Given the description of an element on the screen output the (x, y) to click on. 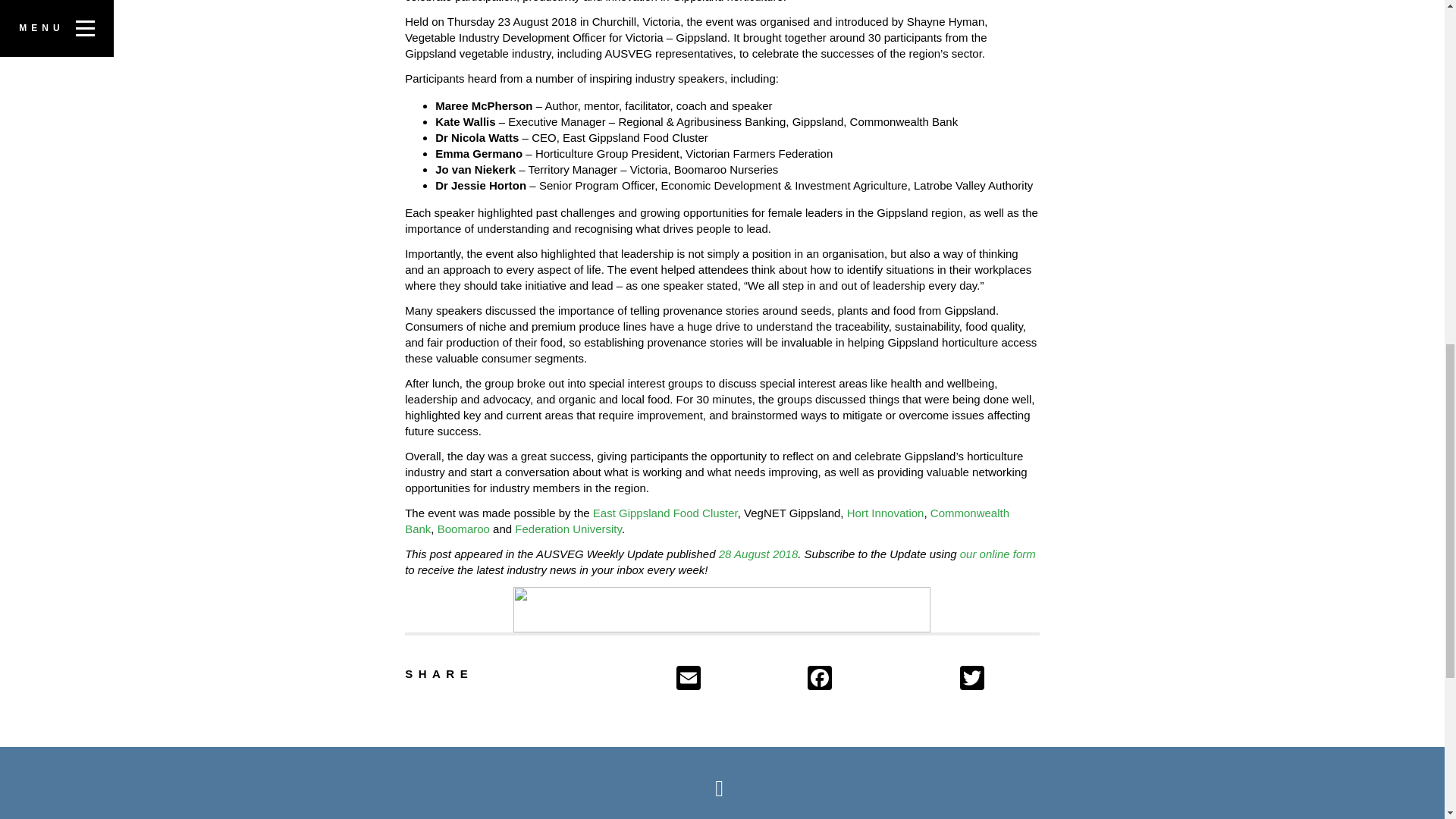
Facebook (880, 679)
Twitter (997, 679)
Email (738, 679)
